Given the description of an element on the screen output the (x, y) to click on. 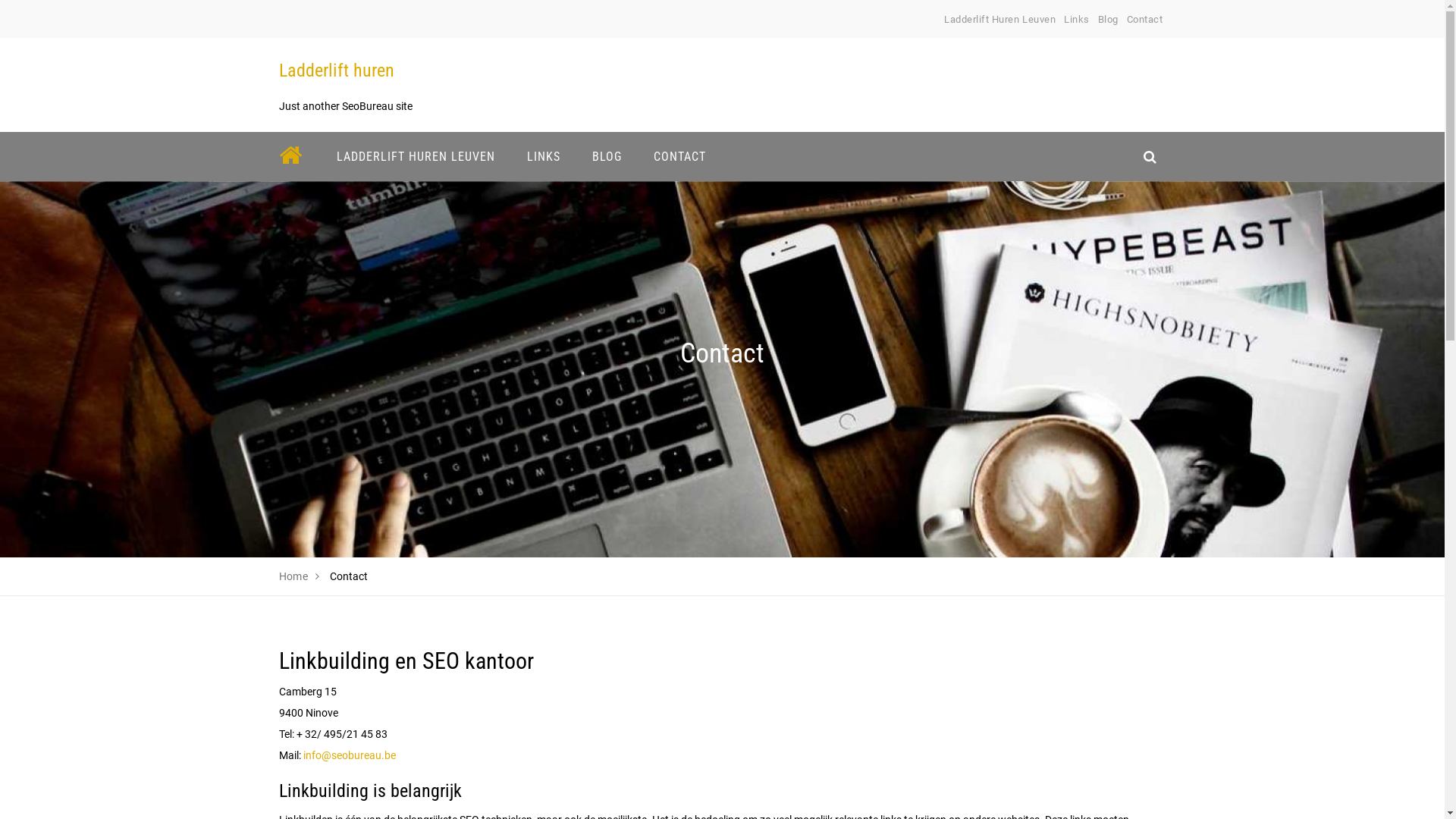
Links Element type: text (1076, 19)
LINKS Element type: text (543, 156)
Contact Element type: text (1144, 19)
search_icon Element type: hover (1148, 156)
Ladderlift huren Element type: text (336, 70)
BLOG Element type: text (606, 156)
LADDERLIFT HUREN LEUVEN Element type: text (415, 156)
CONTACT Element type: text (679, 156)
Home Element type: text (293, 576)
Blog Element type: text (1108, 19)
Ladderlift Huren Leuven Element type: text (999, 19)
info@seobureau.be Element type: text (349, 755)
